Given the description of an element on the screen output the (x, y) to click on. 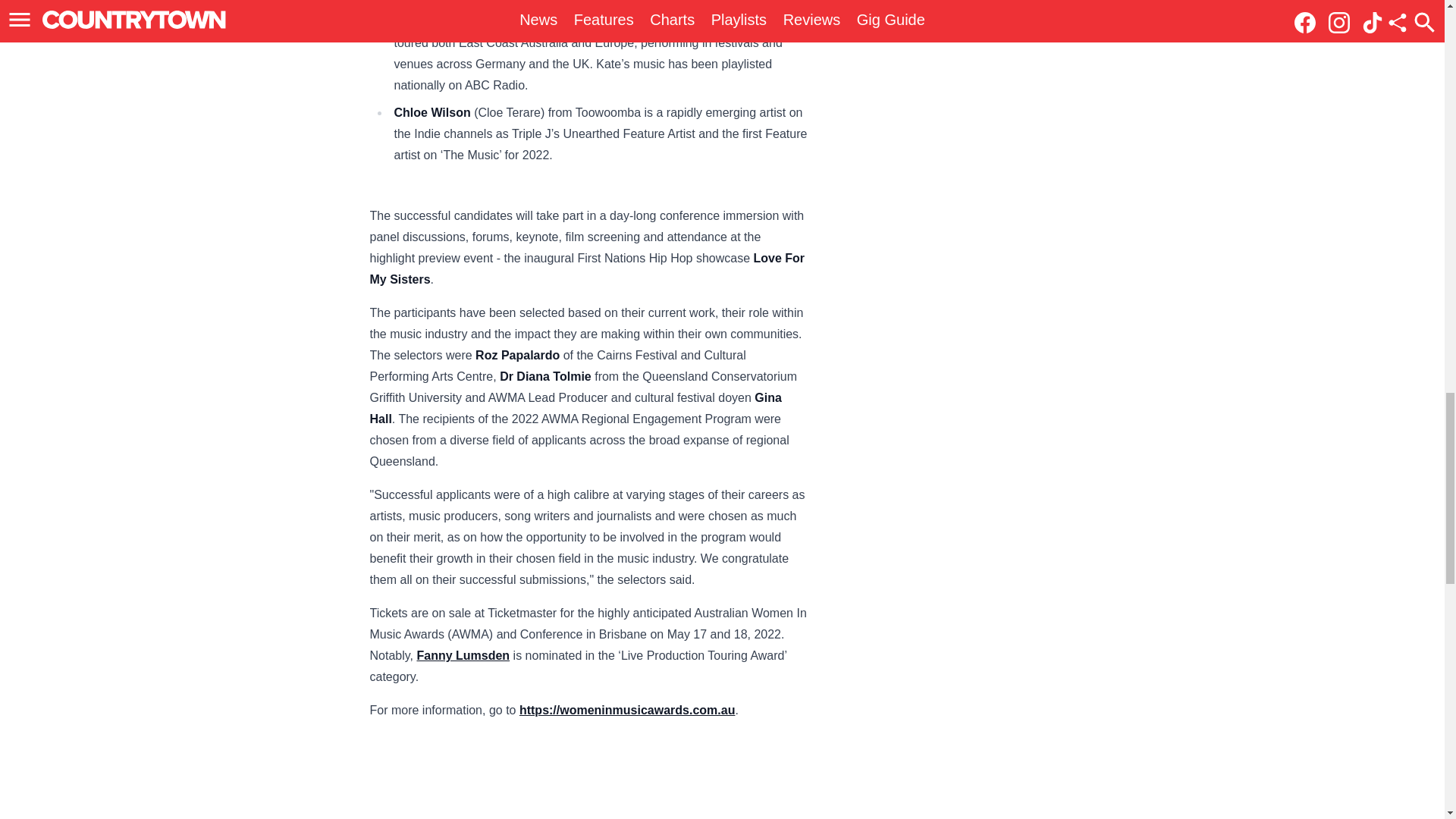
Fanny Lumsden (462, 655)
